Given the description of an element on the screen output the (x, y) to click on. 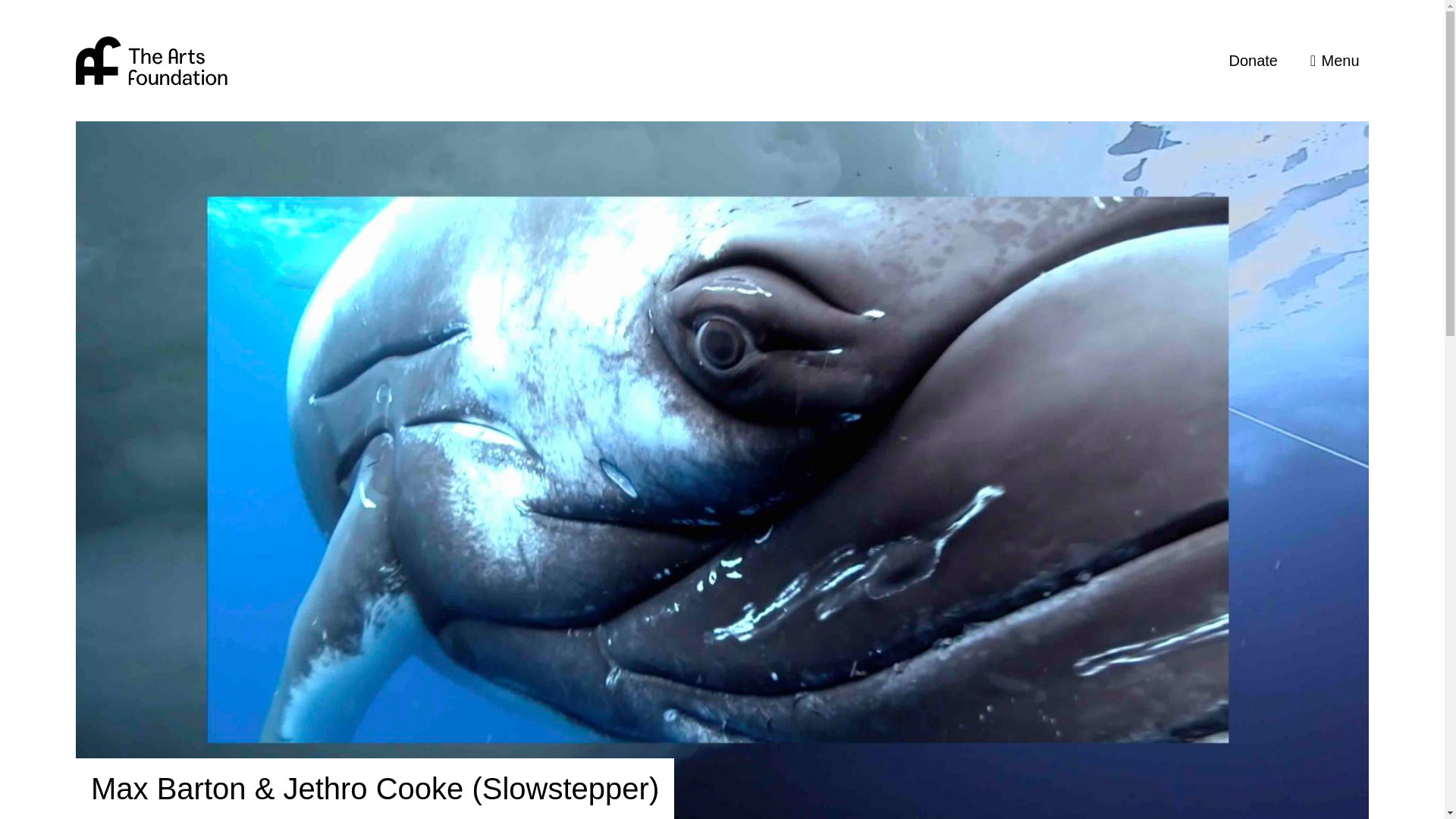
Donate (1252, 60)
Arts Foundation (151, 60)
Menu (1334, 60)
